Given the description of an element on the screen output the (x, y) to click on. 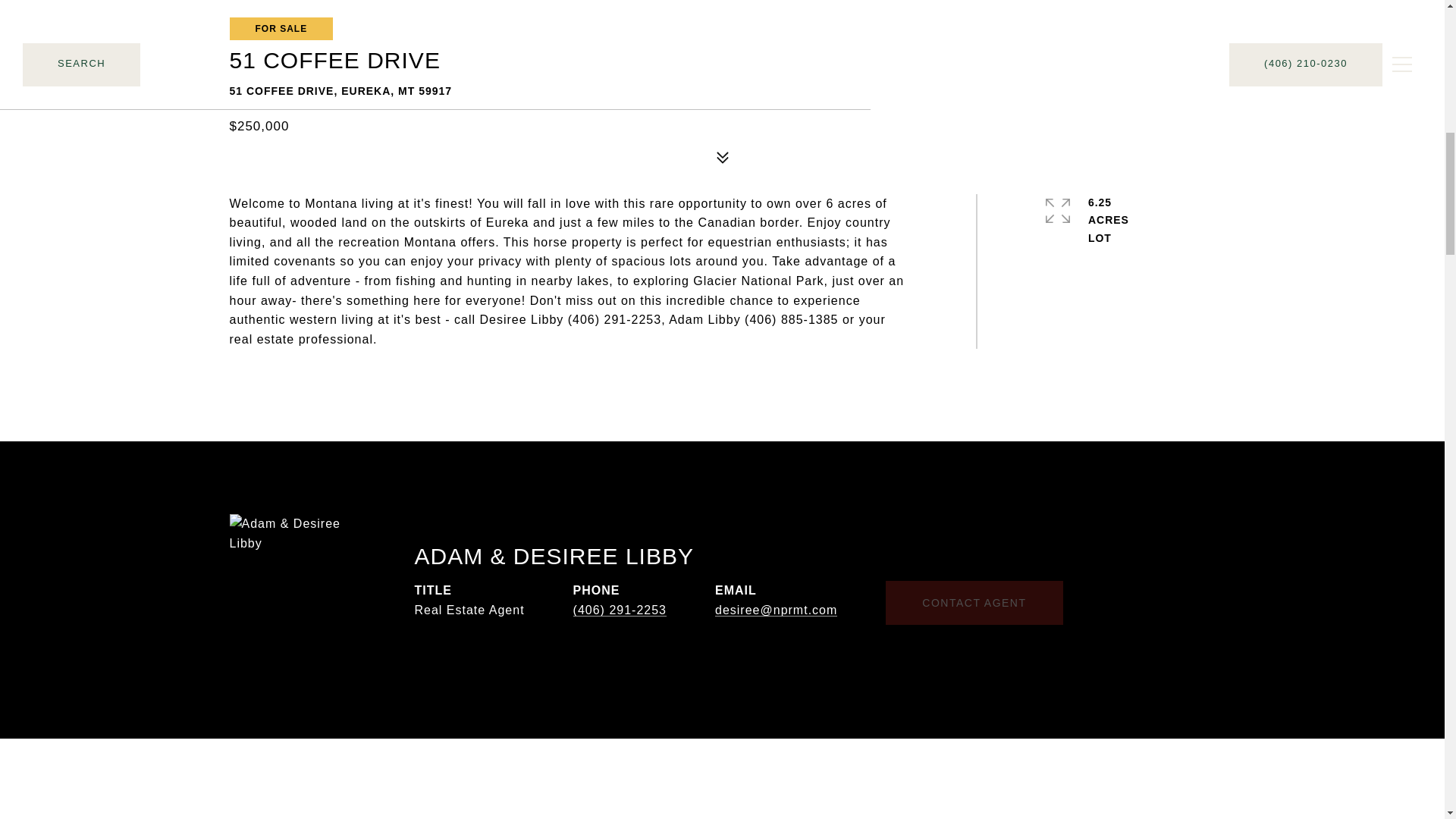
CONTACT AGENT (973, 602)
